Given the description of an element on the screen output the (x, y) to click on. 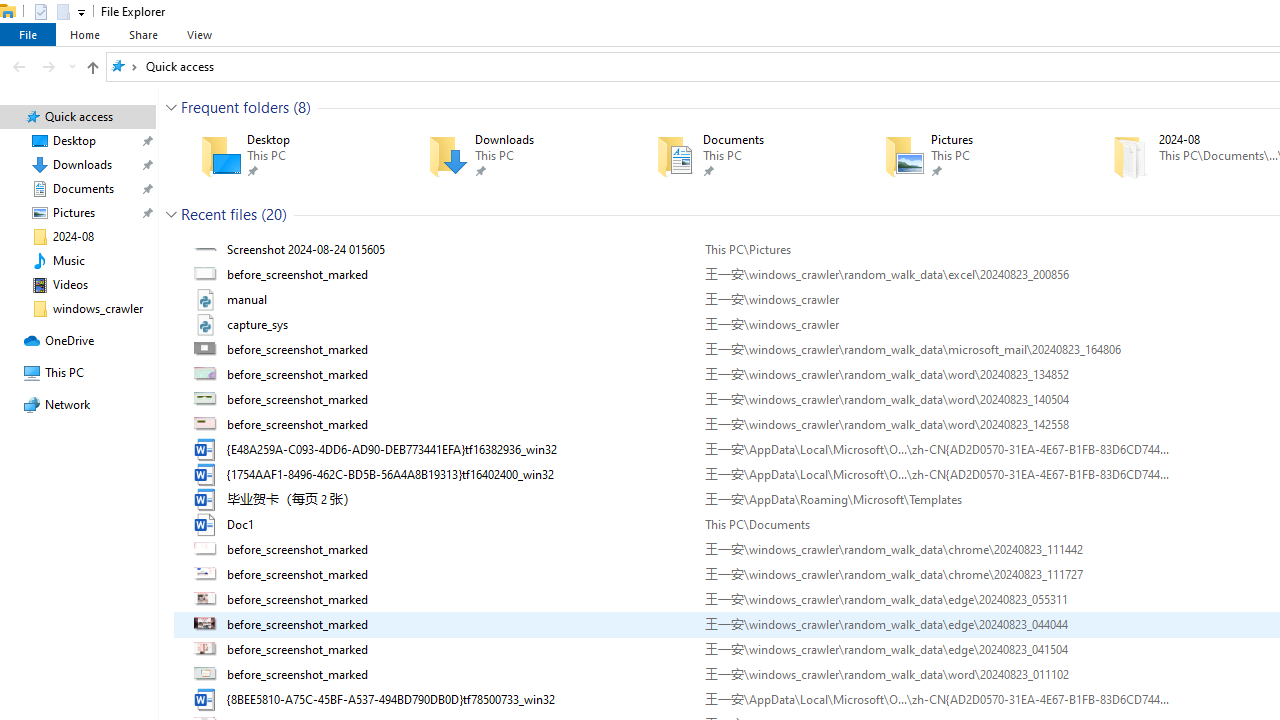
File tab (28, 34)
Quick Access Toolbar (51, 11)
Downloads (513, 156)
Documents (741, 156)
Pictures (969, 156)
Name (458, 699)
Count (273, 213)
Up to "Desktop" (Alt + Up Arrow) (92, 67)
Navigation buttons (41, 66)
Share (143, 34)
Forward (Alt + Right Arrow) (49, 66)
Quick access (179, 65)
Back (Alt + Left Arrow) (18, 66)
Up band toolbar (92, 70)
Pinned (1003, 170)
